Given the description of an element on the screen output the (x, y) to click on. 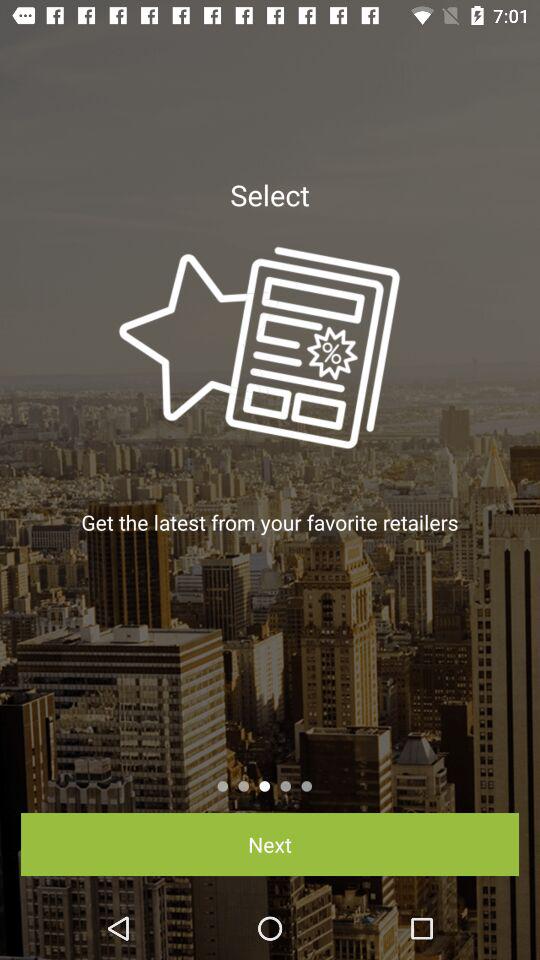
turn off next item (270, 844)
